Given the description of an element on the screen output the (x, y) to click on. 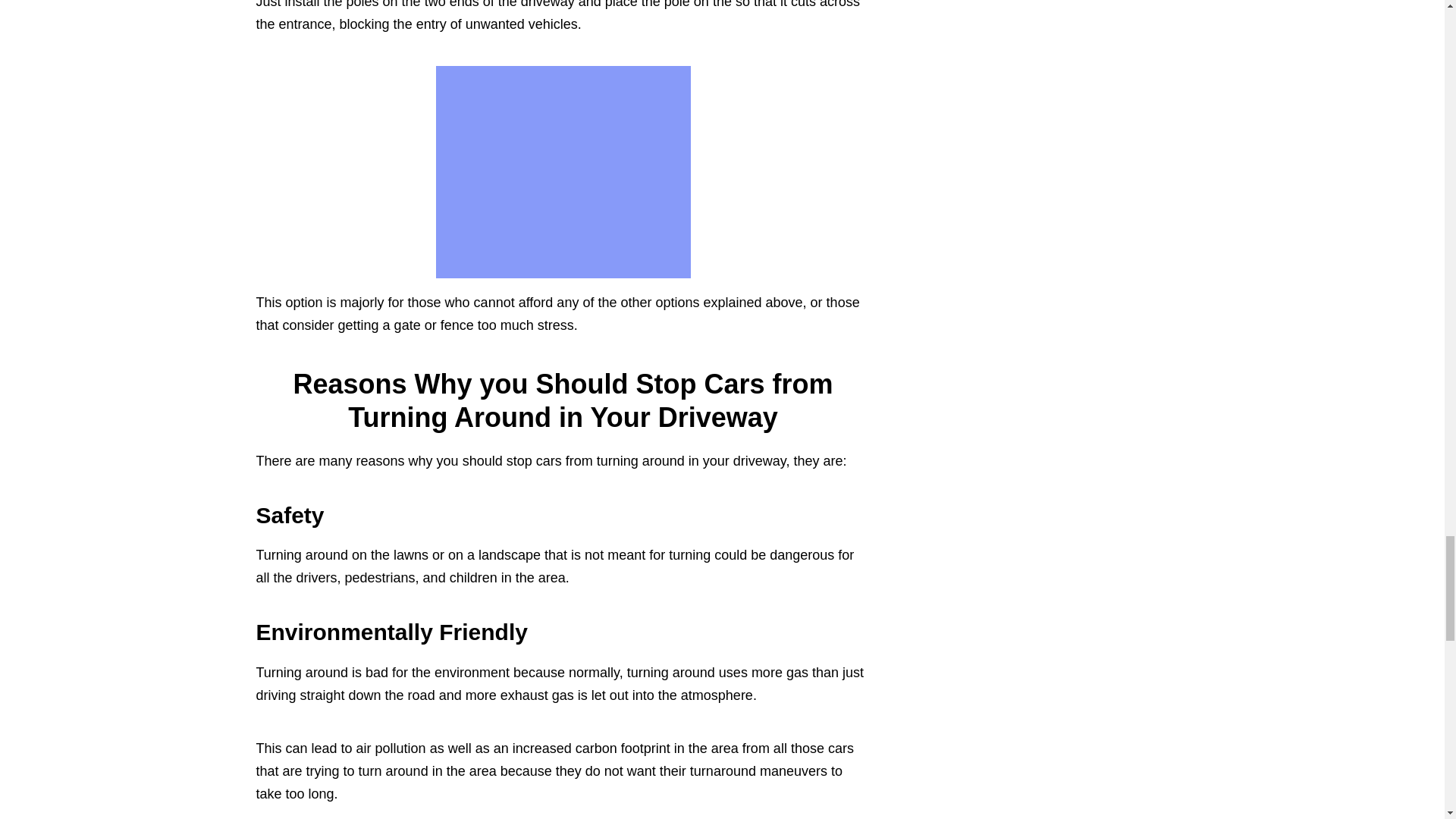
blocking the entry (392, 23)
